Given the description of an element on the screen output the (x, y) to click on. 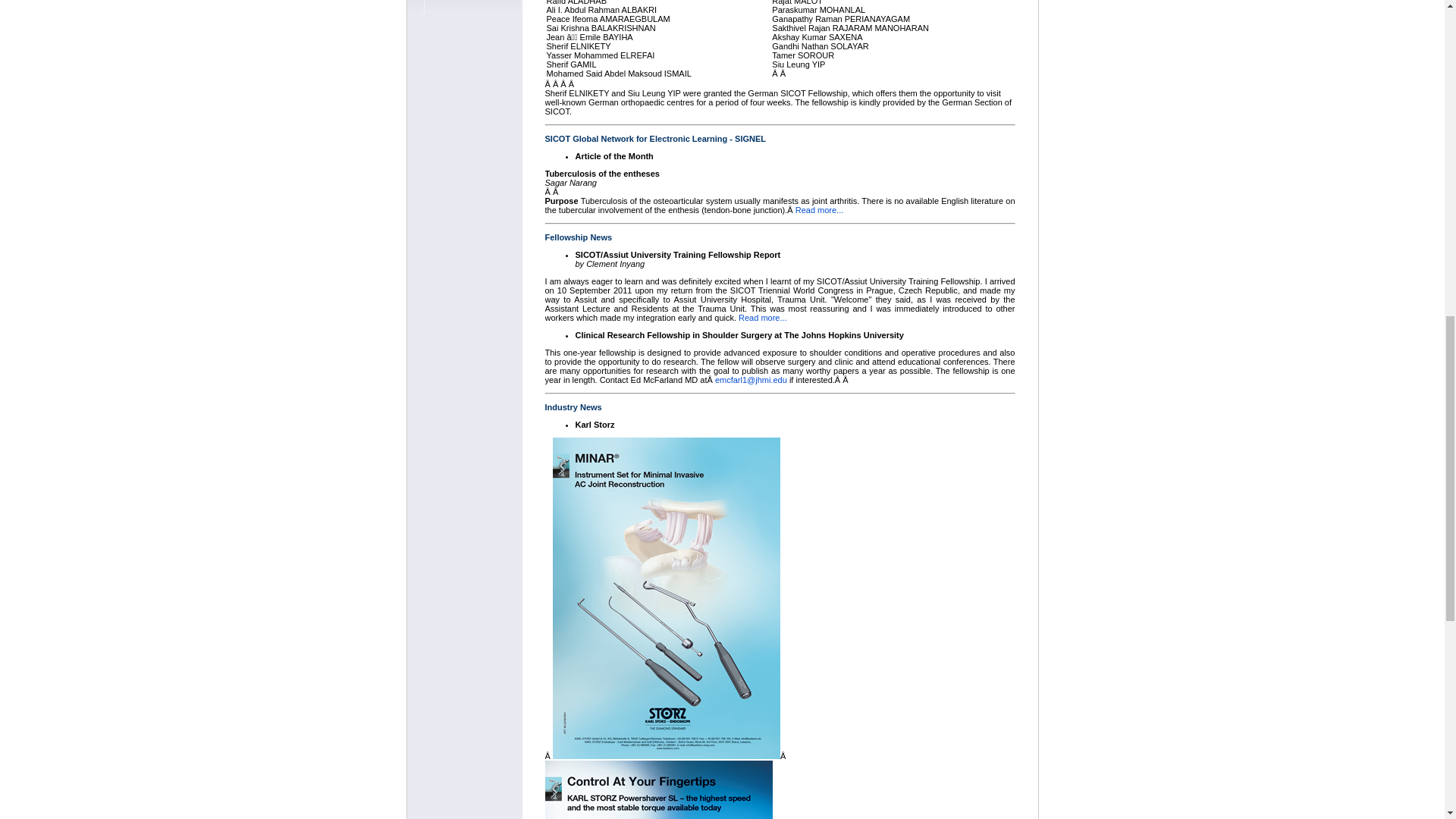
Read more... (819, 209)
Read more... (762, 317)
